Given the description of an element on the screen output the (x, y) to click on. 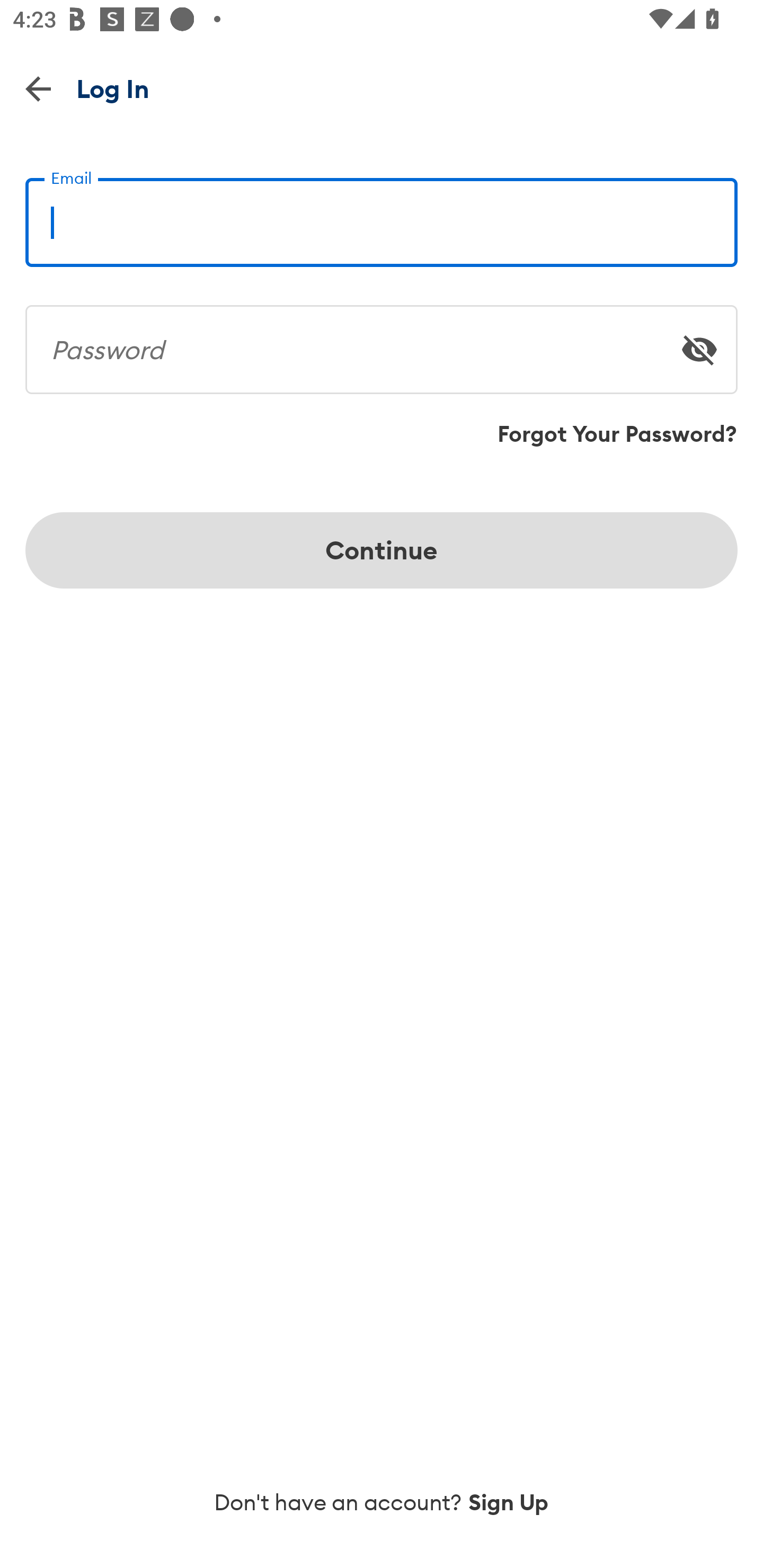
Back (38, 88)
Email (381, 215)
Password (381, 342)
Forgot Your Password? (617, 433)
Continue (381, 550)
Sign Up (508, 1502)
